Given the description of an element on the screen output the (x, y) to click on. 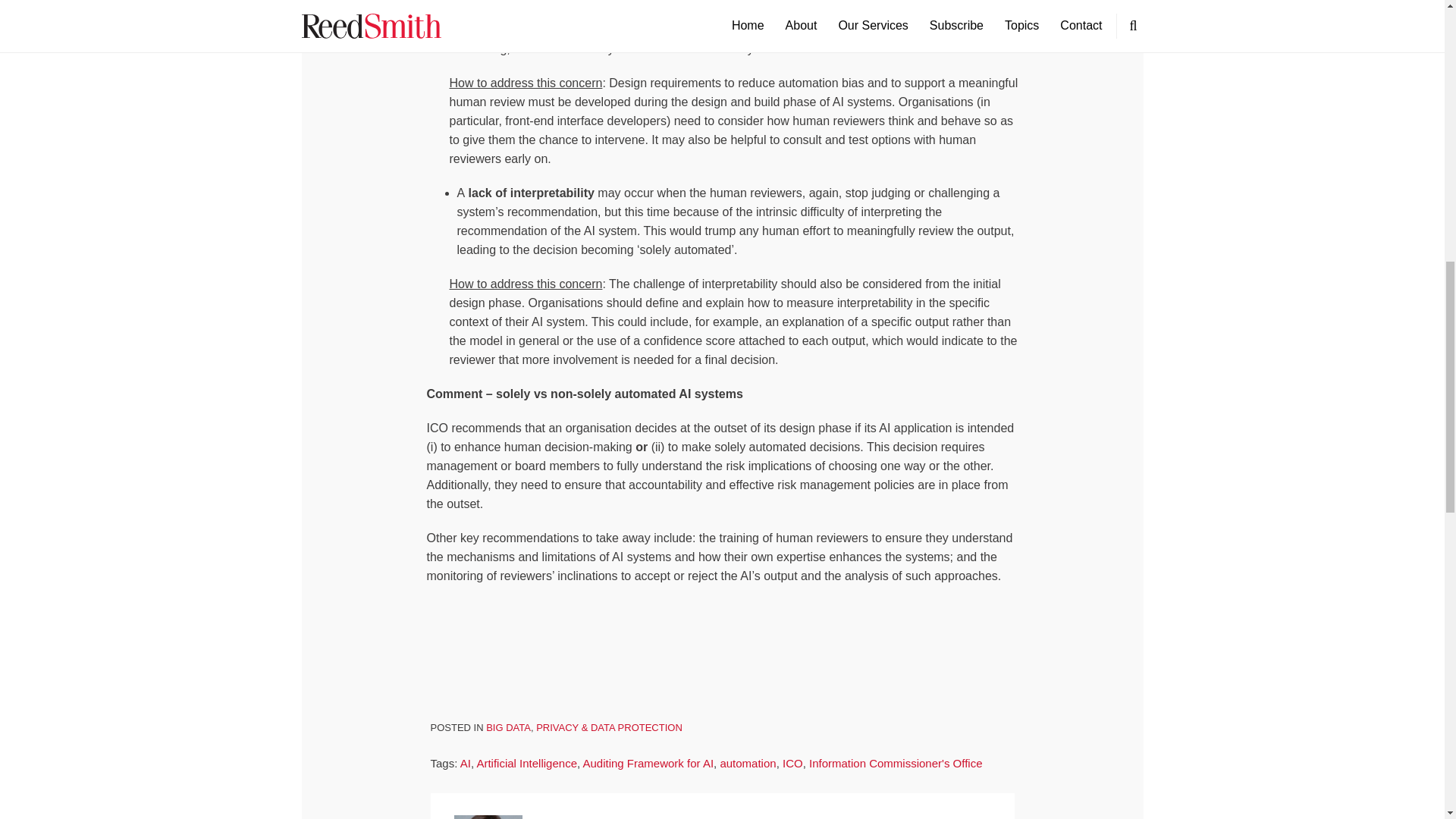
automation (747, 762)
Artificial Intelligence (526, 762)
ICO (793, 762)
Information Commissioner's Office (895, 762)
BIG DATA (508, 727)
Auditing Framework for AI (647, 762)
